Given the description of an element on the screen output the (x, y) to click on. 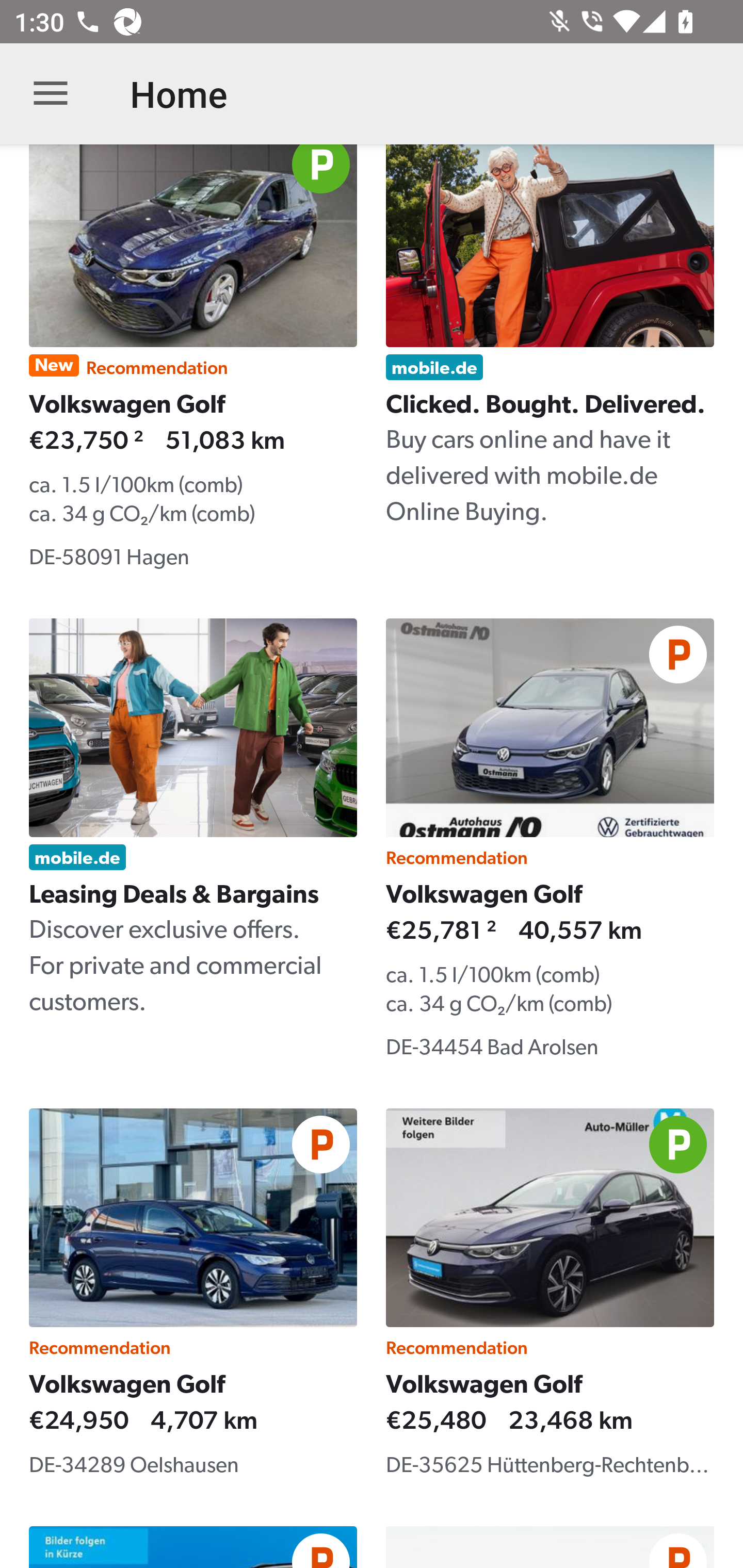
Open navigation bar (50, 93)
